Given the description of an element on the screen output the (x, y) to click on. 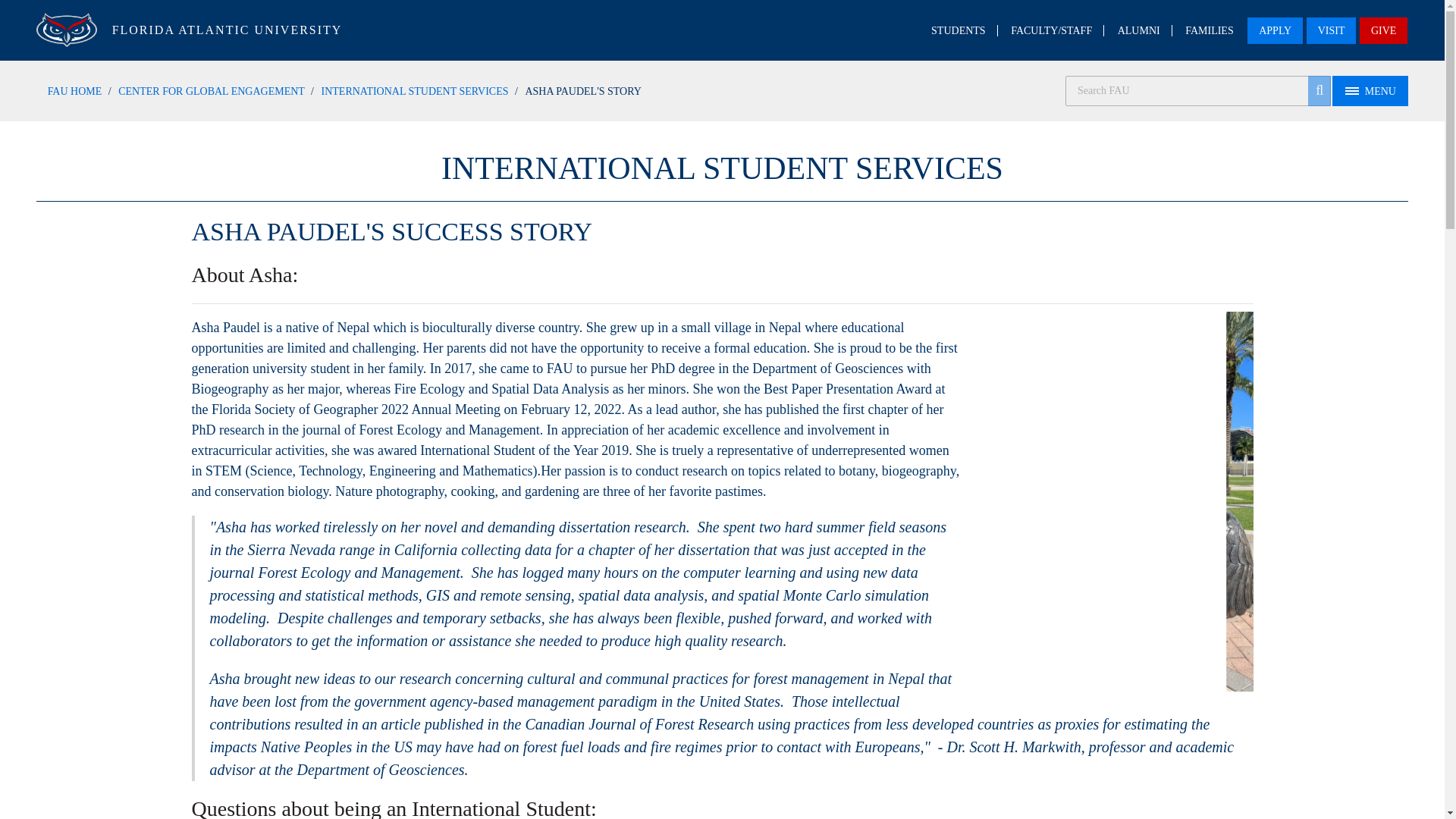
VISIT (1331, 29)
Site Search (1197, 91)
FAMILIES (1208, 30)
GIVE (1383, 29)
FLORIDA ATLANTIC UNIVERSITY (227, 29)
INTERNATIONAL STUDENT SERVICES (414, 91)
FAU HOME (74, 91)
ALUMNI (1139, 30)
APPLY (1275, 29)
CENTER FOR GLOBAL ENGAGEMENT (210, 91)
